Given the description of an element on the screen output the (x, y) to click on. 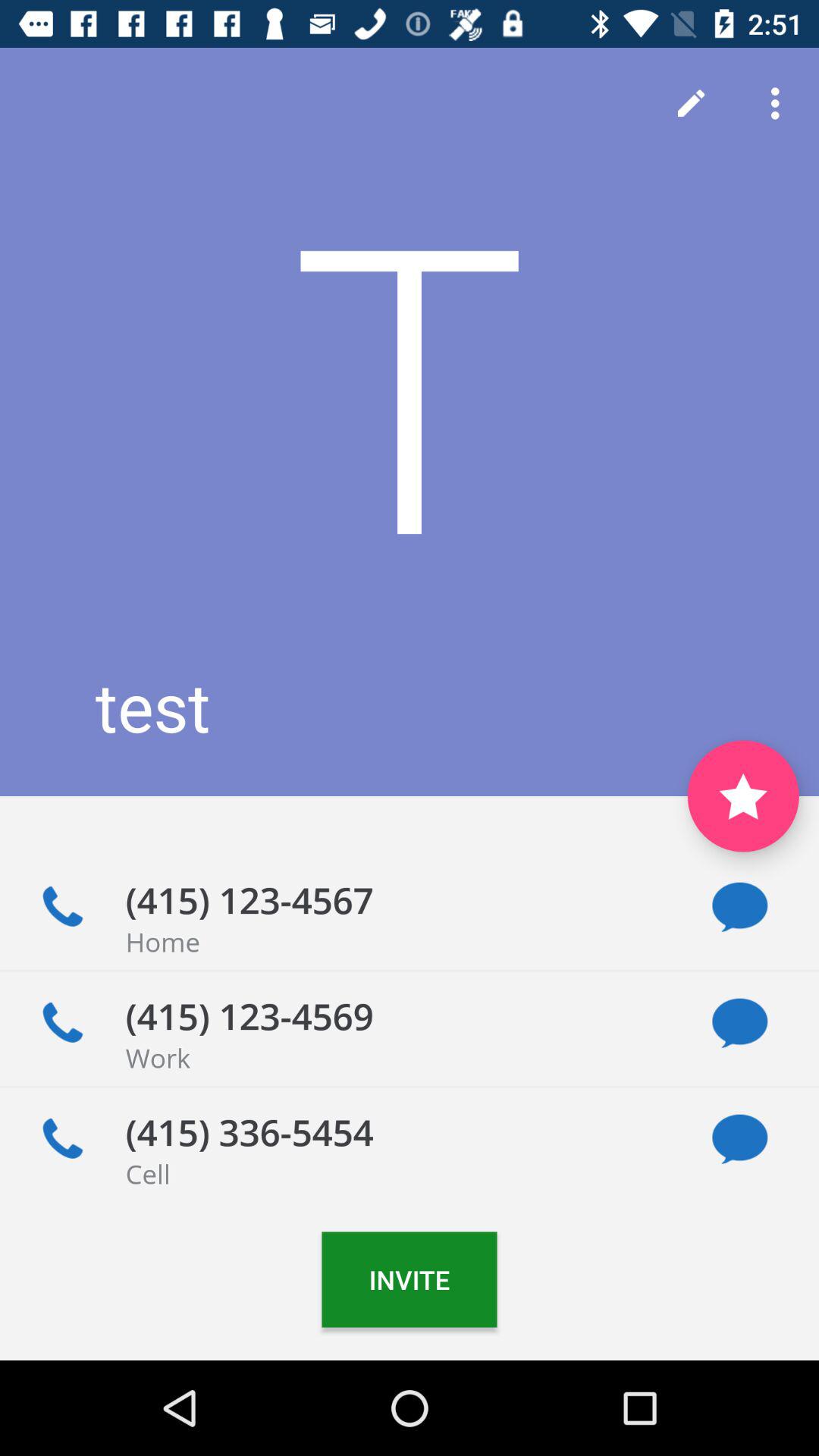
send message to 415-123-4569 (739, 1023)
